Given the description of an element on the screen output the (x, y) to click on. 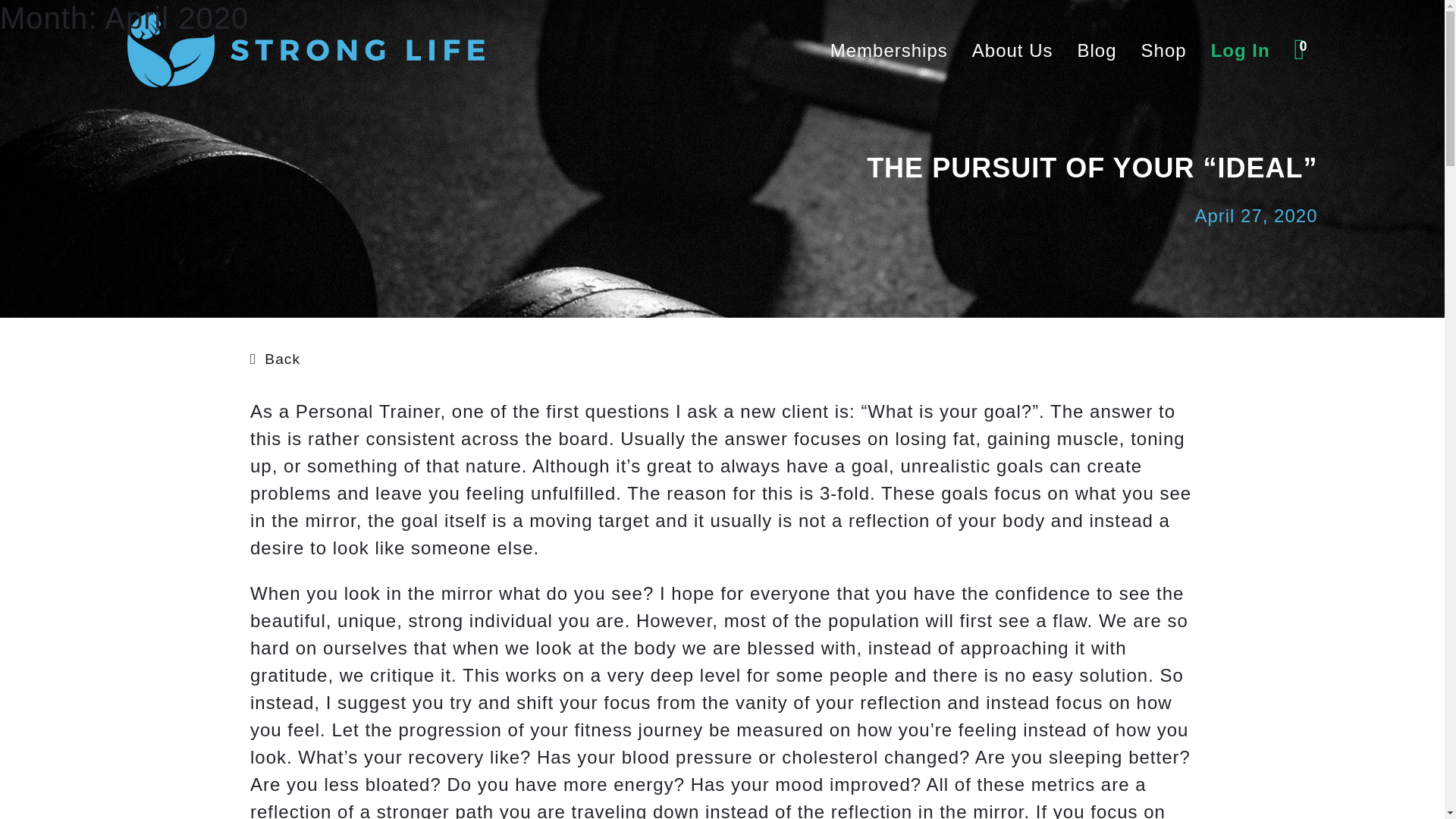
Back (274, 357)
Blog (1097, 50)
About Us (1012, 50)
Memberships (888, 50)
Log In (1240, 50)
Shop (1163, 50)
